Given the description of an element on the screen output the (x, y) to click on. 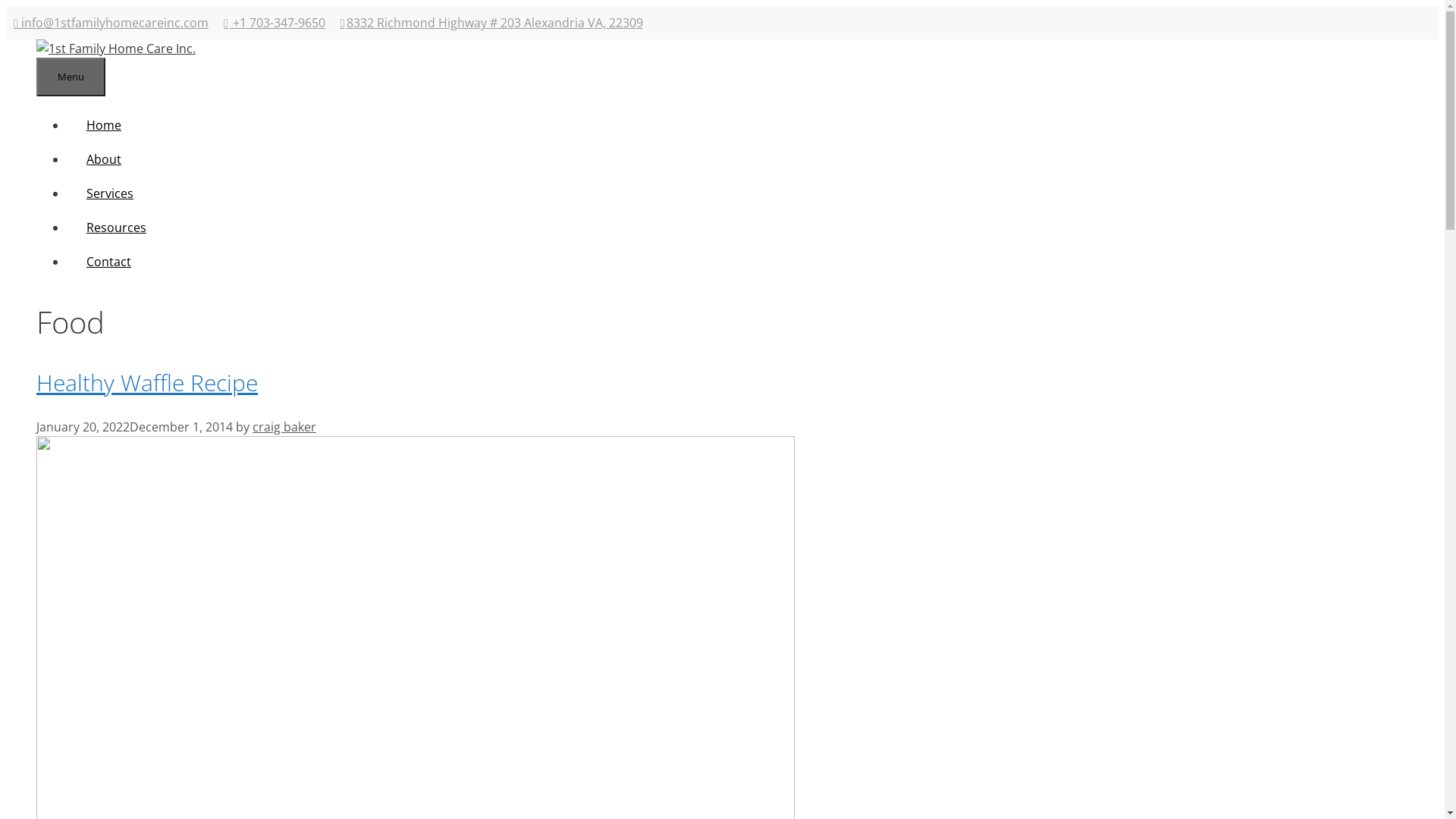
About Element type: text (103, 158)
8332 Richmond Highway # 203 Alexandria VA, 22309 Element type: text (484, 22)
Menu Element type: text (70, 76)
Skip to content Element type: text (5, 5)
+1 703-347-9650 Element type: text (266, 22)
Contact Element type: text (108, 261)
Services Element type: text (109, 193)
Home Element type: text (103, 124)
craig baker Element type: text (284, 426)
Resources Element type: text (116, 227)
info@1stfamilyhomecareinc.com Element type: text (110, 22)
Healthy Waffle Recipe Element type: text (146, 382)
